Given the description of an element on the screen output the (x, y) to click on. 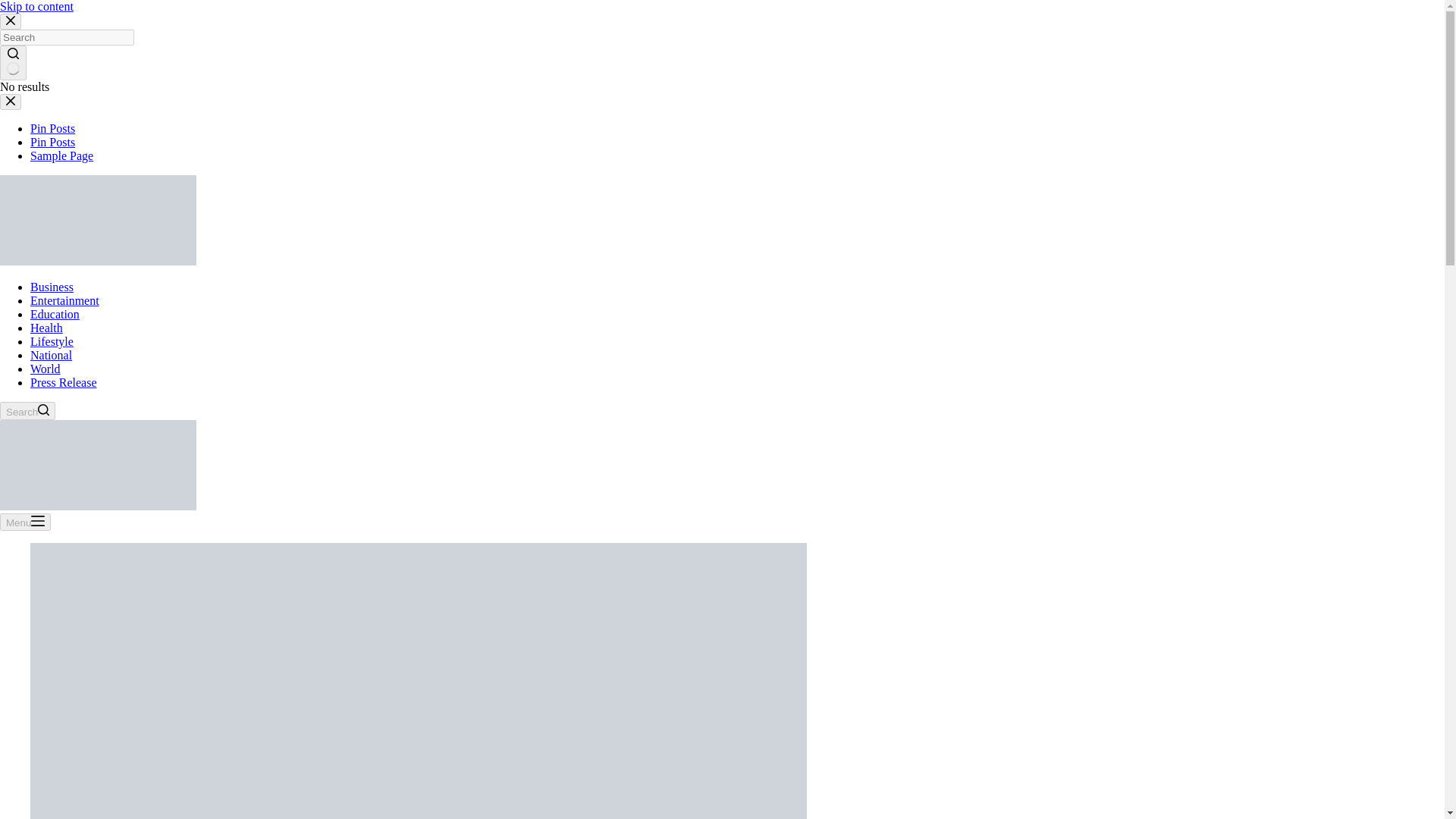
Skip to content (15, 7)
6 COMMENTS (421, 713)
PRESS RELEASE (1137, 45)
LIFESTYLE (350, 713)
ENTERTAINMENT (727, 45)
Search for... (1063, 151)
